Given the description of an element on the screen output the (x, y) to click on. 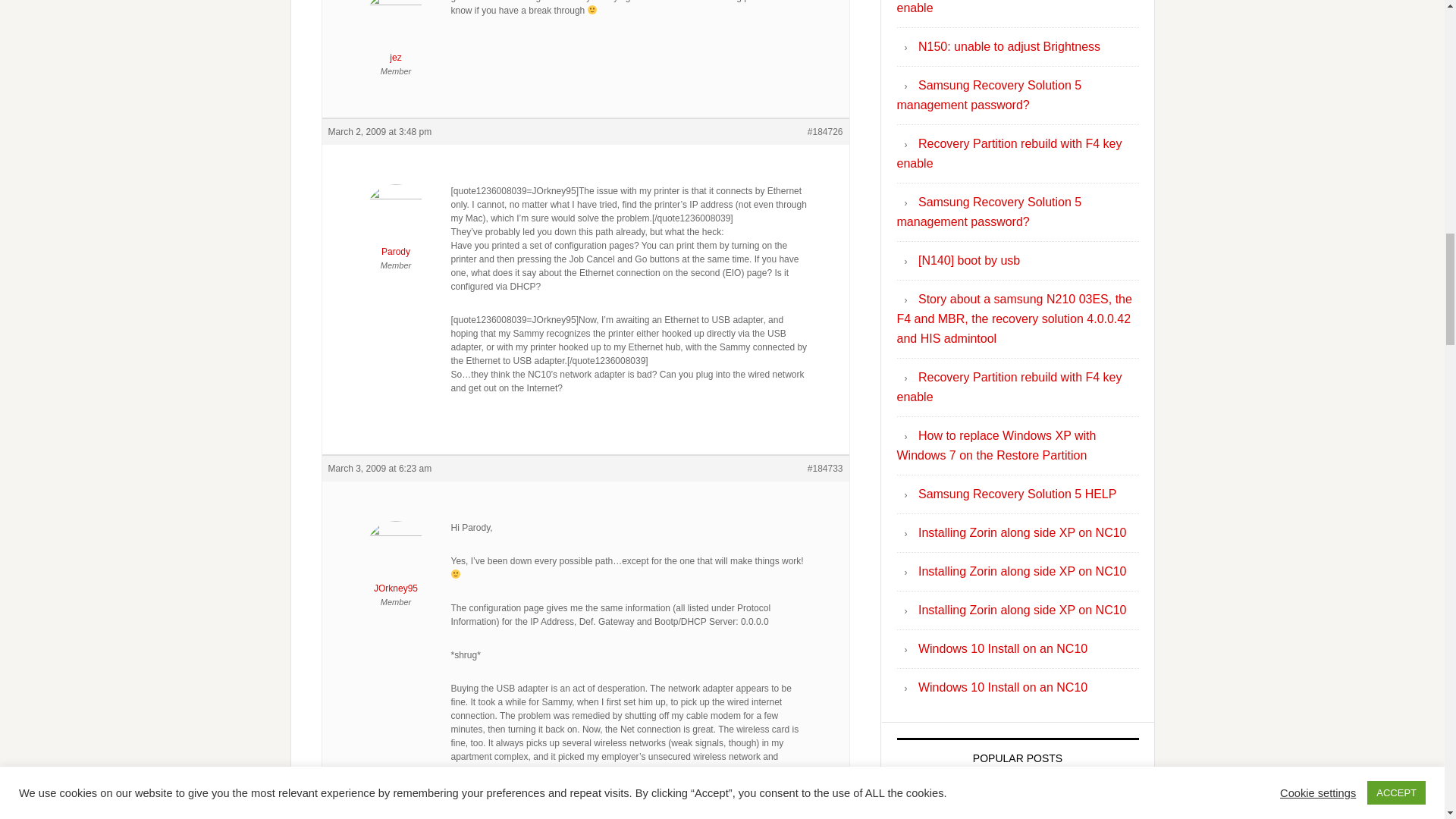
View jez's profile (395, 32)
JOrkney95 (395, 561)
View JOrkney95's profile (395, 561)
jez (395, 32)
View Parody's profile (395, 224)
Parody (395, 224)
